Given the description of an element on the screen output the (x, y) to click on. 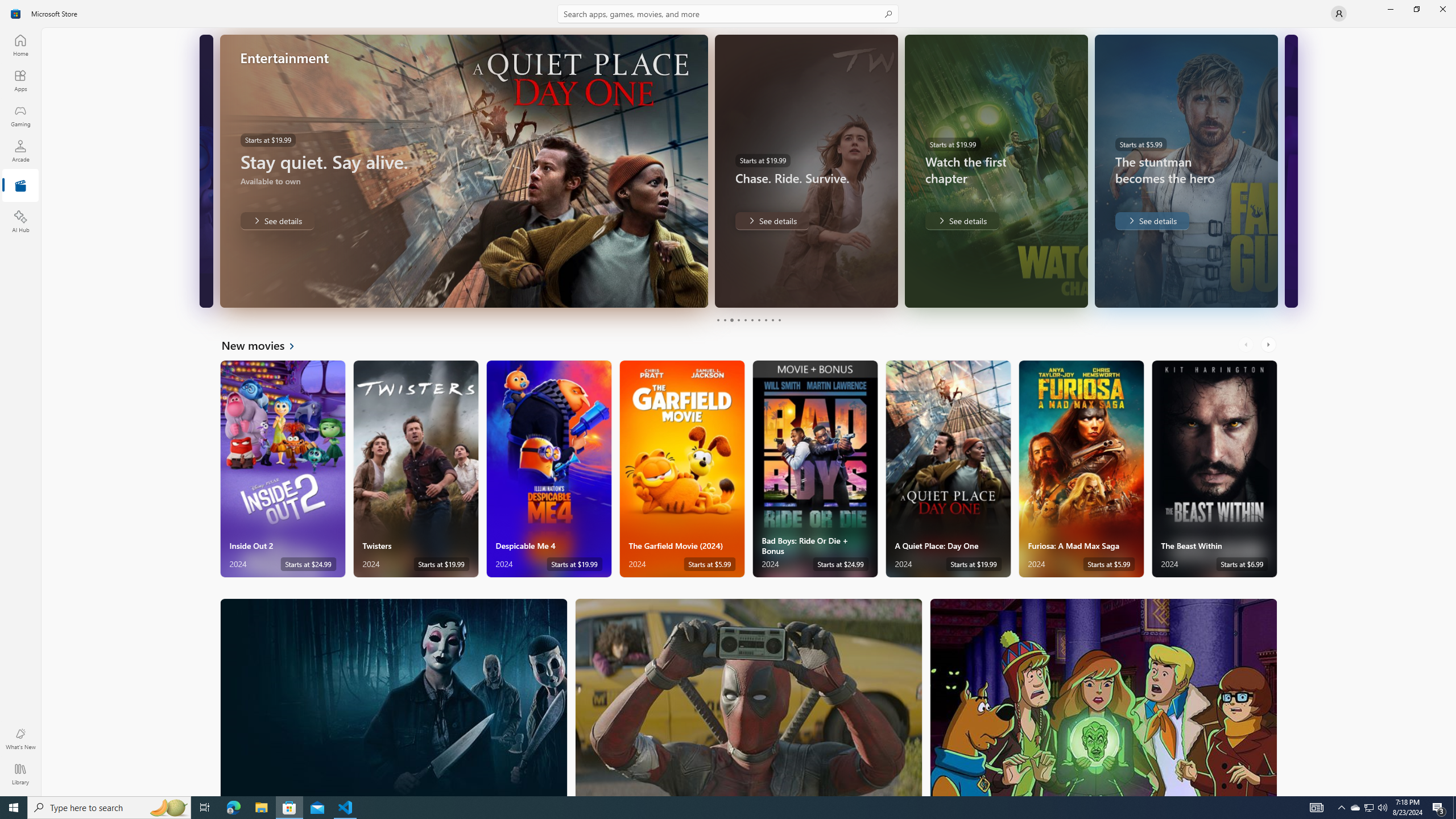
Horror (393, 697)
Unmute (202, 291)
AutomationID: NavigationControl (728, 398)
Page 6 (751, 319)
Page 9 (772, 319)
Pager (748, 319)
The Beast Within. Starts at $6.99   (1213, 469)
